Given the description of an element on the screen output the (x, y) to click on. 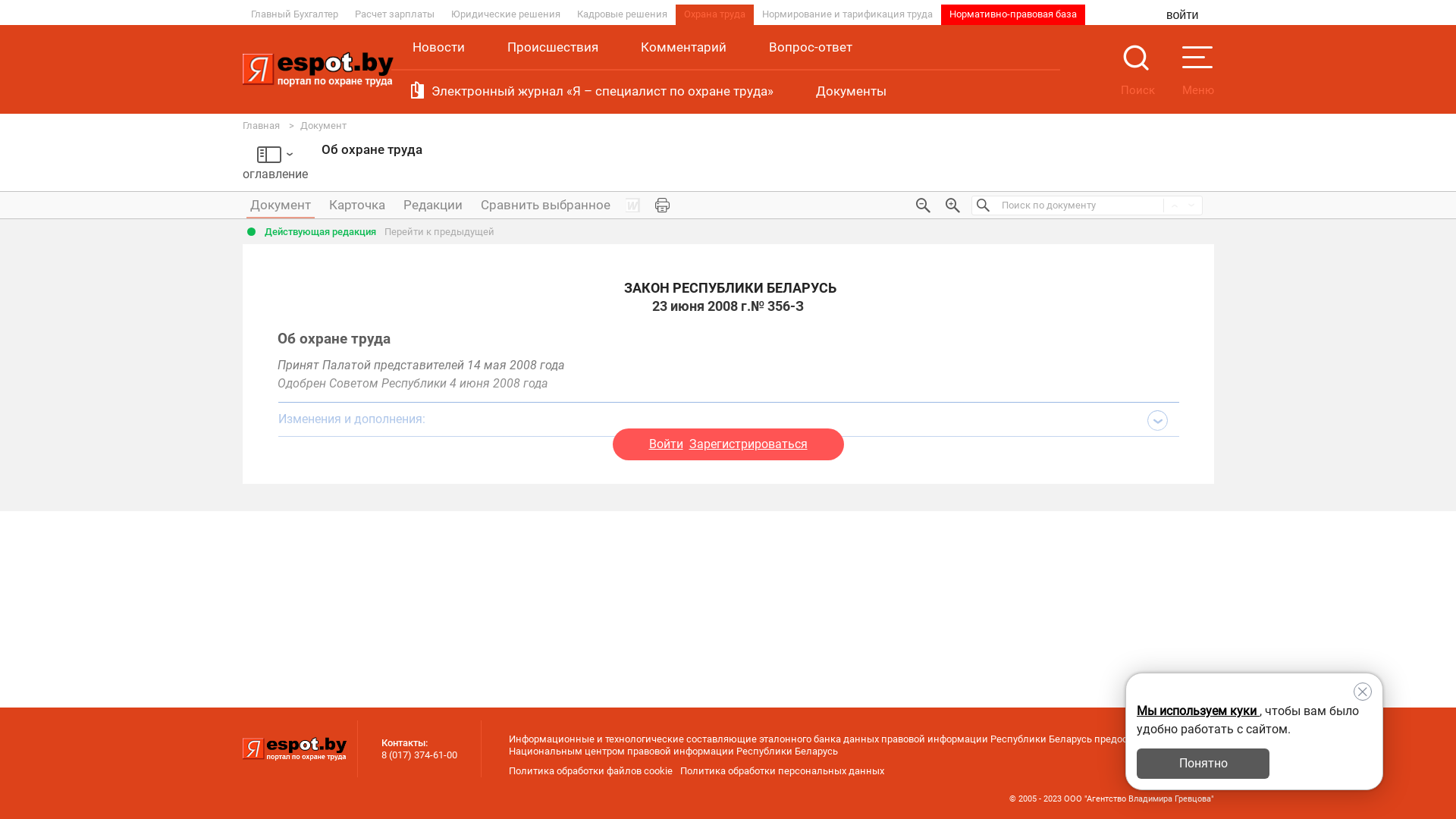
8 (017) 374-61-00 Element type: text (418, 755)
